Given the description of an element on the screen output the (x, y) to click on. 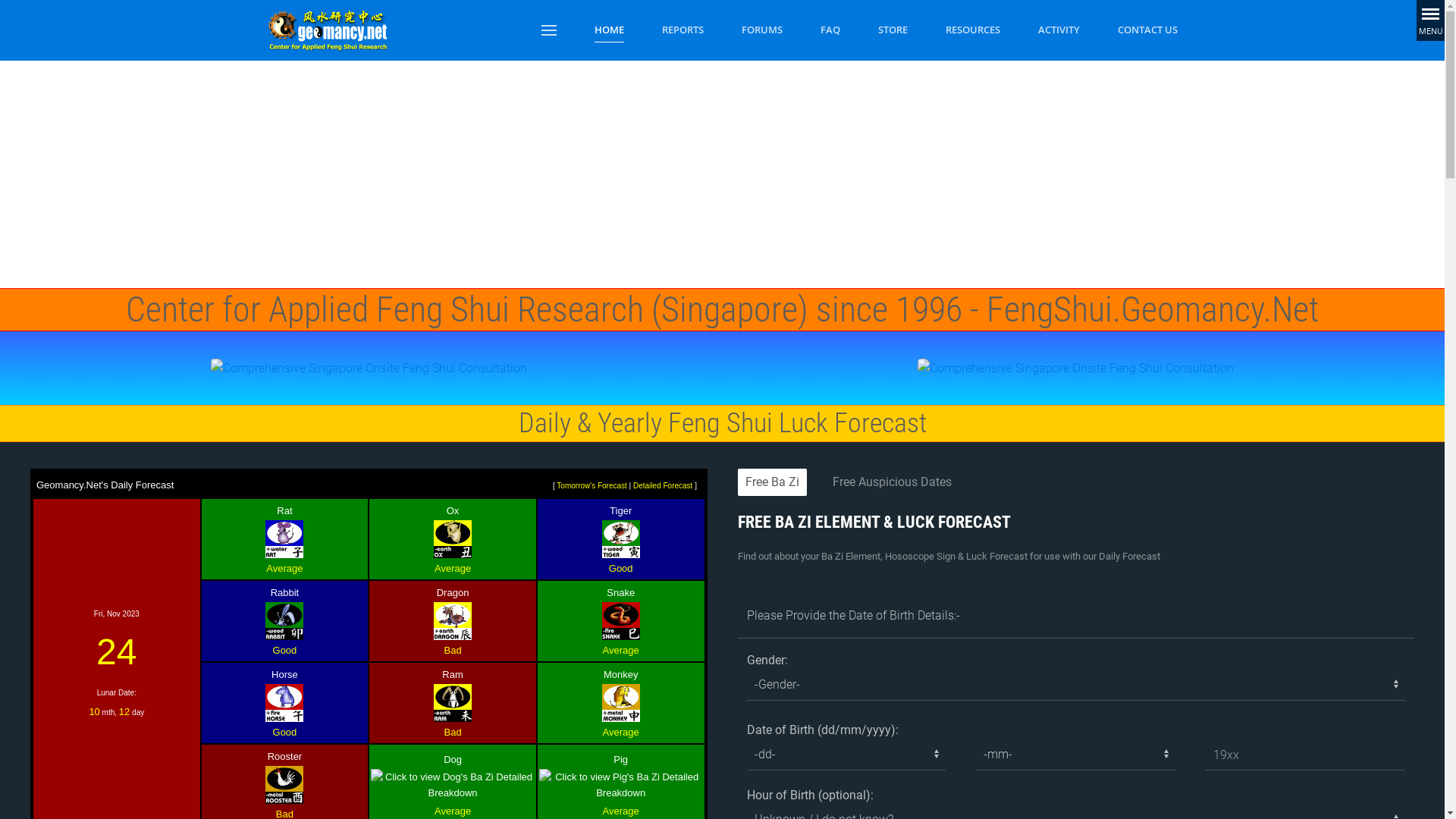
RESOURCES Element type: text (971, 30)
FORUMS Element type: text (761, 30)
REPORTS Element type: text (681, 30)
Free Auspicious Dates Element type: text (892, 481)
Detailed Forecast Element type: text (662, 485)
HOME Element type: text (609, 30)
FAQ Element type: text (830, 30)
Tomorrow's Forecast Element type: text (591, 485)
Free Ba Zi Element type: text (771, 481)
CONTACT US Element type: text (1147, 30)
Advertisement Element type: hover (721, 174)
STORE Element type: text (892, 30)
ACTIVITY Element type: text (1058, 30)
